Given the description of an element on the screen output the (x, y) to click on. 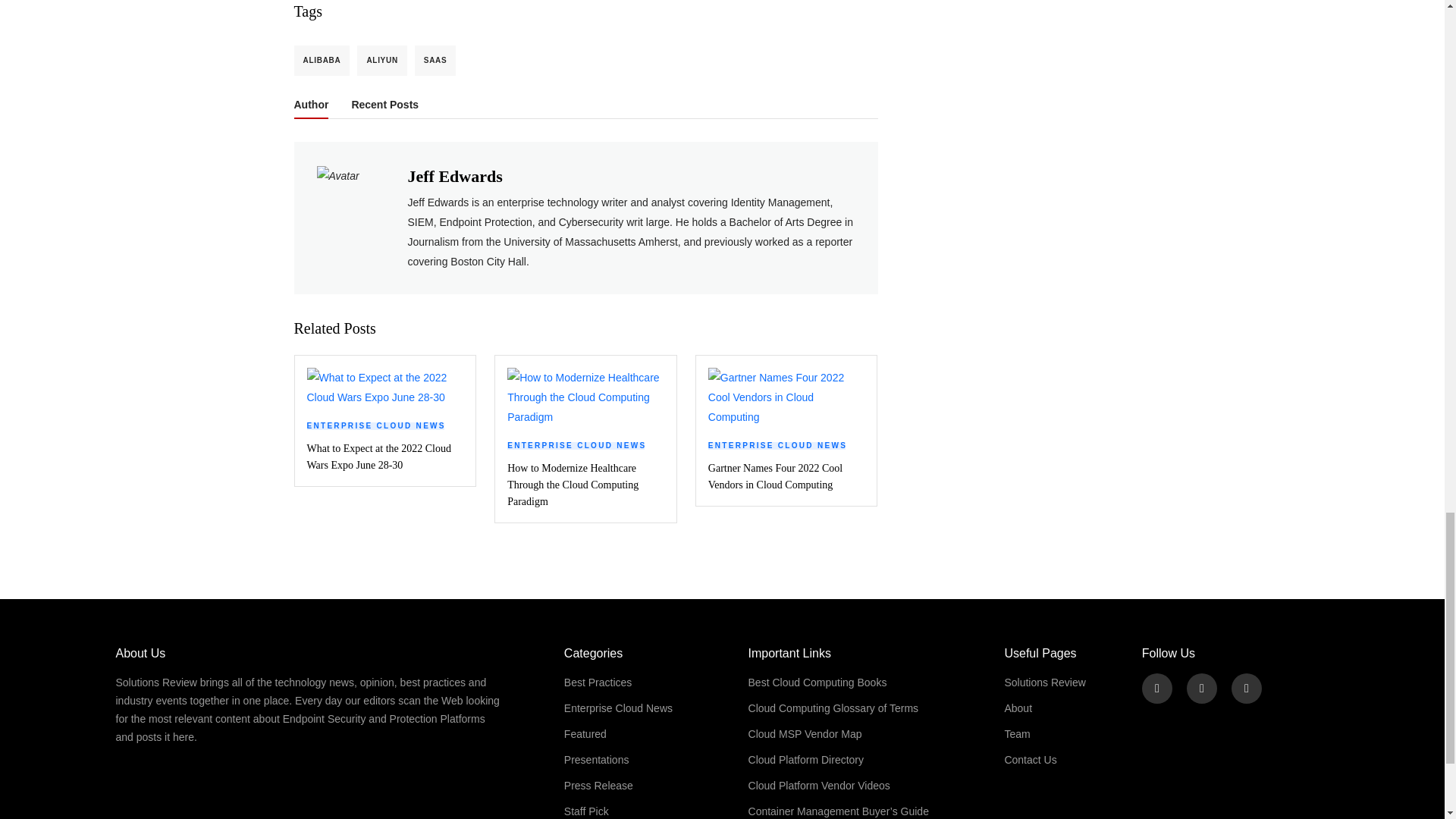
Author (311, 108)
ALIBABA (322, 60)
SAAS (435, 60)
Recent Posts (384, 107)
ALIYUN (381, 60)
